Given the description of an element on the screen output the (x, y) to click on. 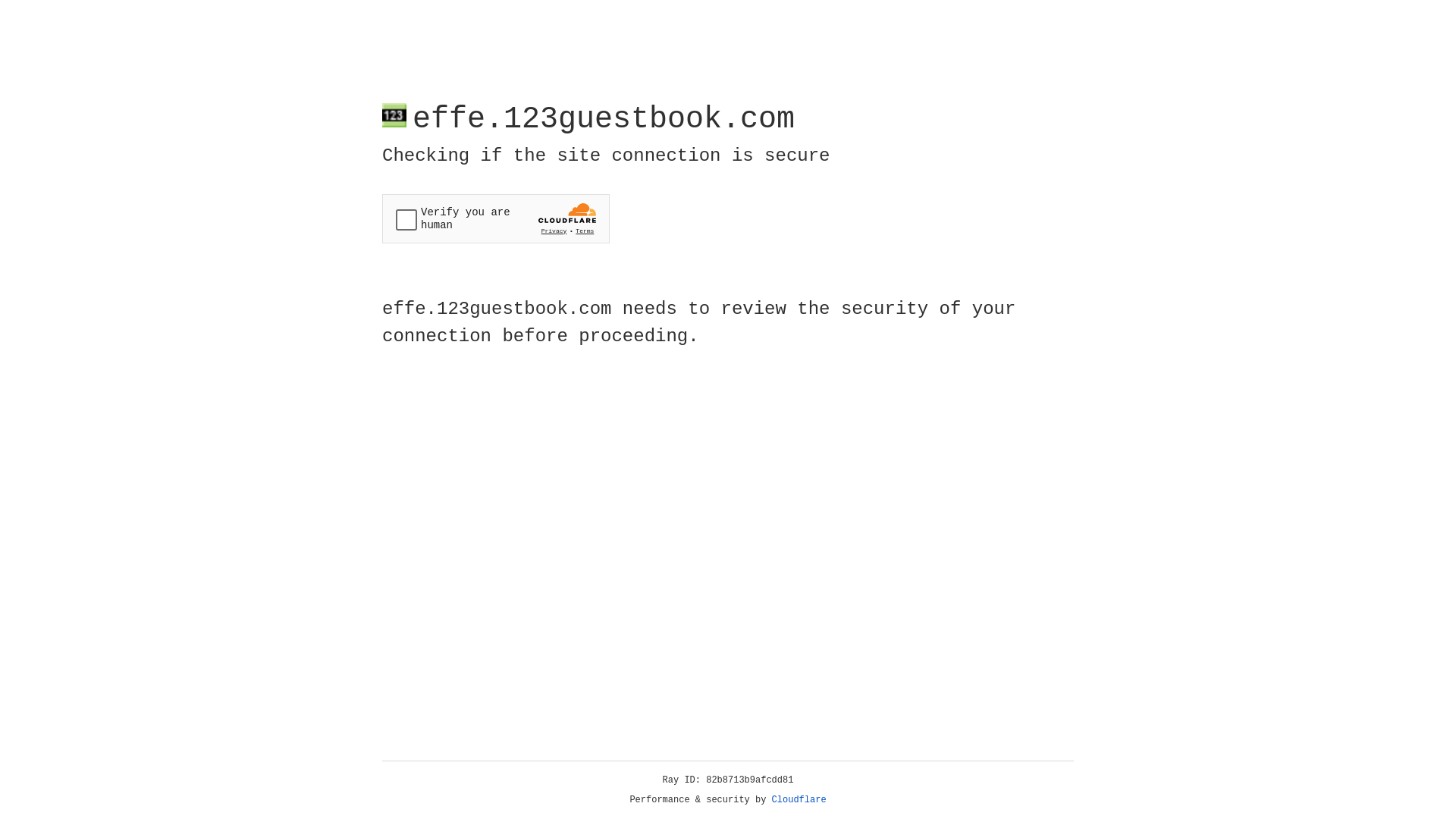
Widget containing a Cloudflare security challenge Element type: hover (495, 218)
Cloudflare Element type: text (798, 799)
